Given the description of an element on the screen output the (x, y) to click on. 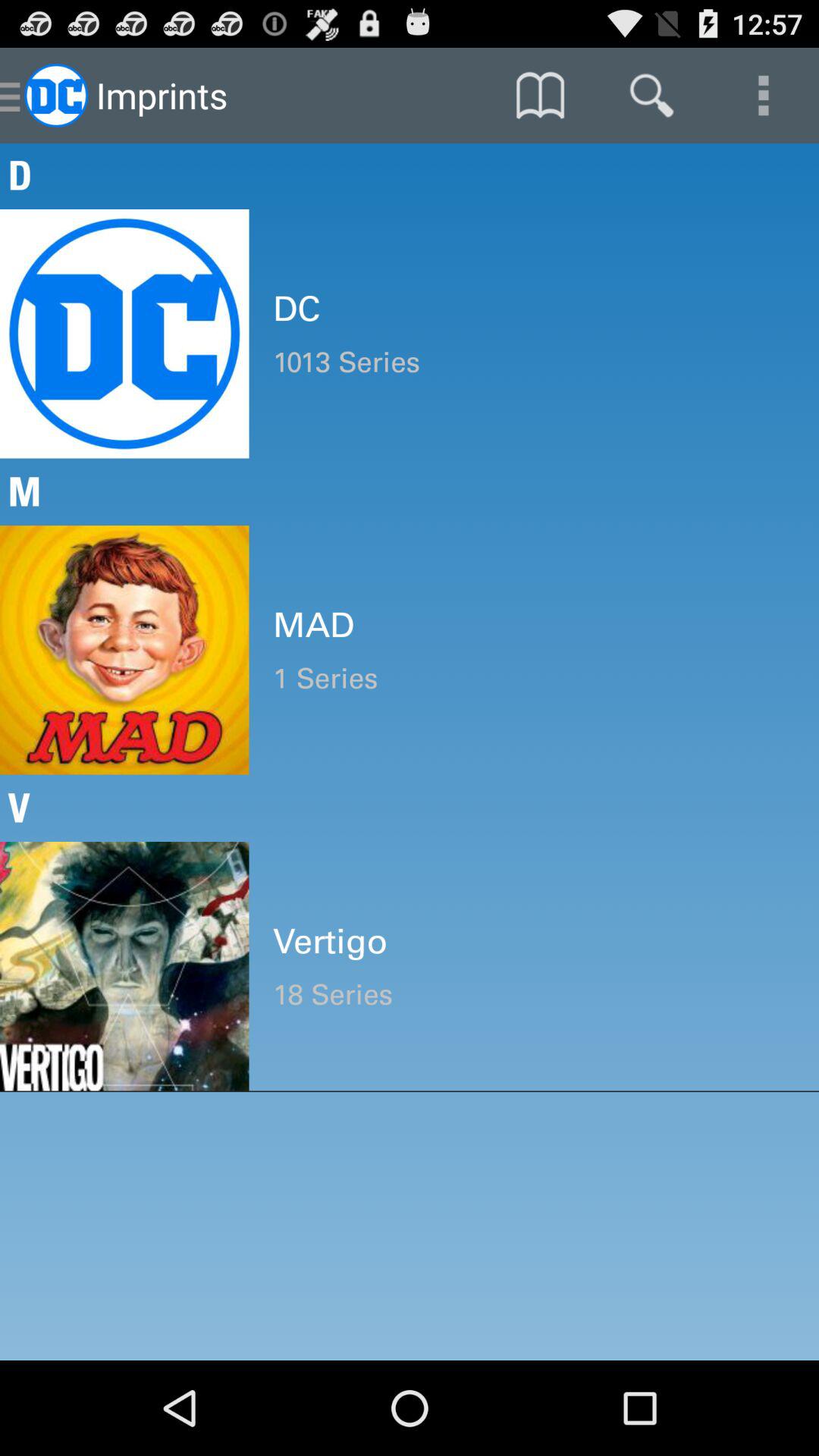
turn off item to the right of the imprints (540, 95)
